Given the description of an element on the screen output the (x, y) to click on. 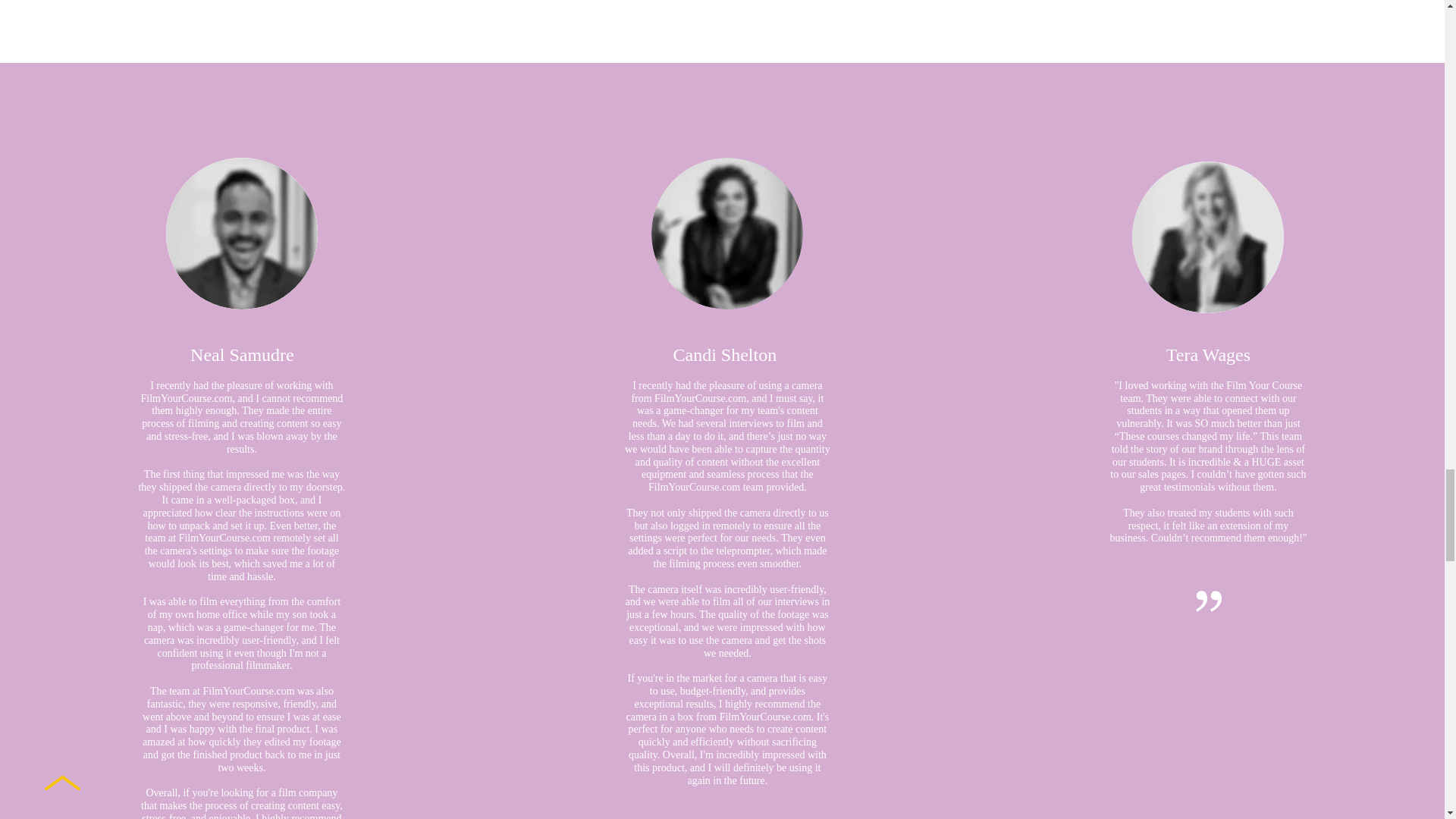
GettyImages-535587703.jpg (241, 233)
GettyImages-124893619.jpg (726, 233)
GettyImages-145680711.jpg (1208, 236)
